Given the description of an element on the screen output the (x, y) to click on. 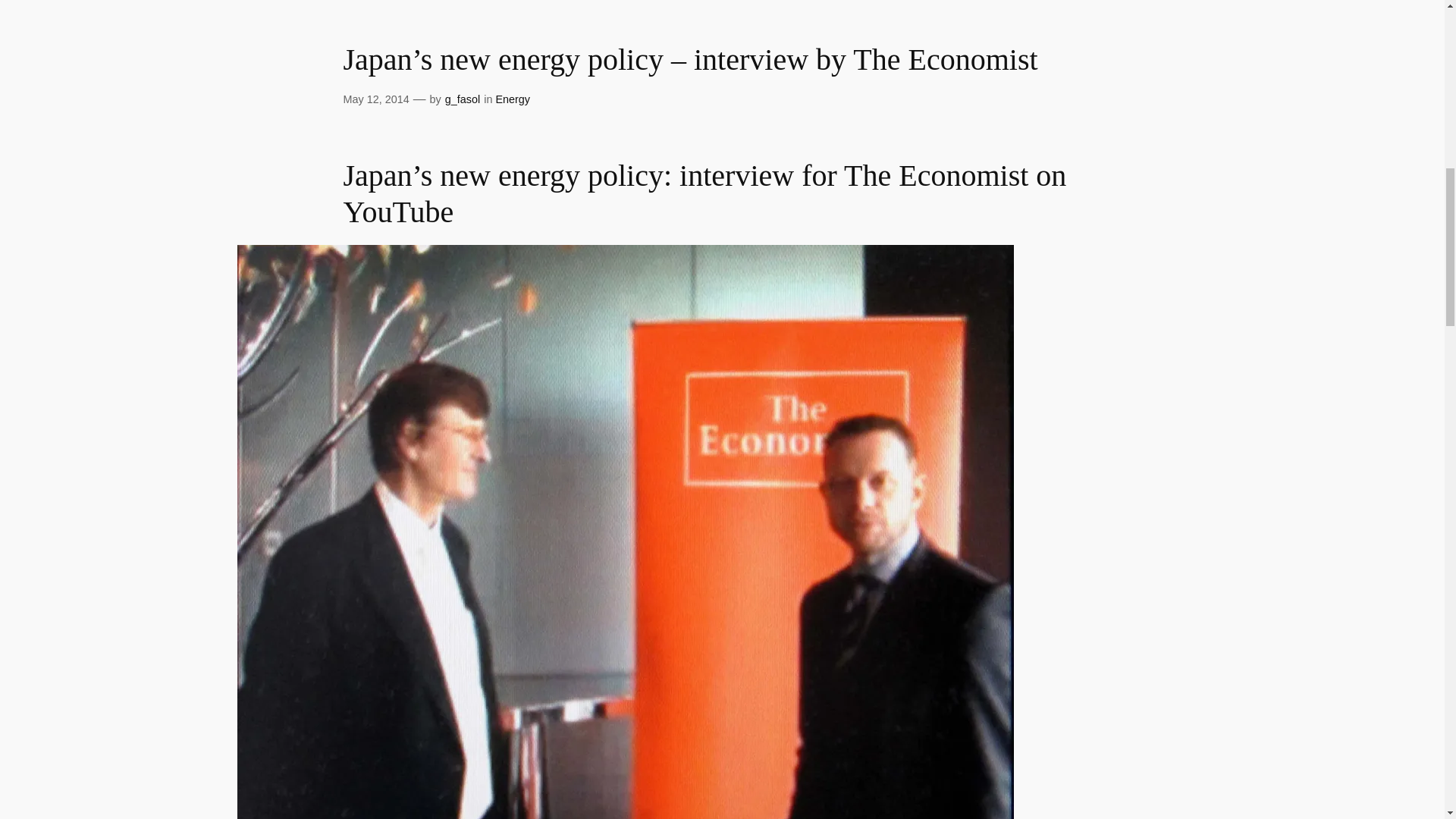
Energy (512, 99)
May 12, 2014 (375, 99)
